Given the description of an element on the screen output the (x, y) to click on. 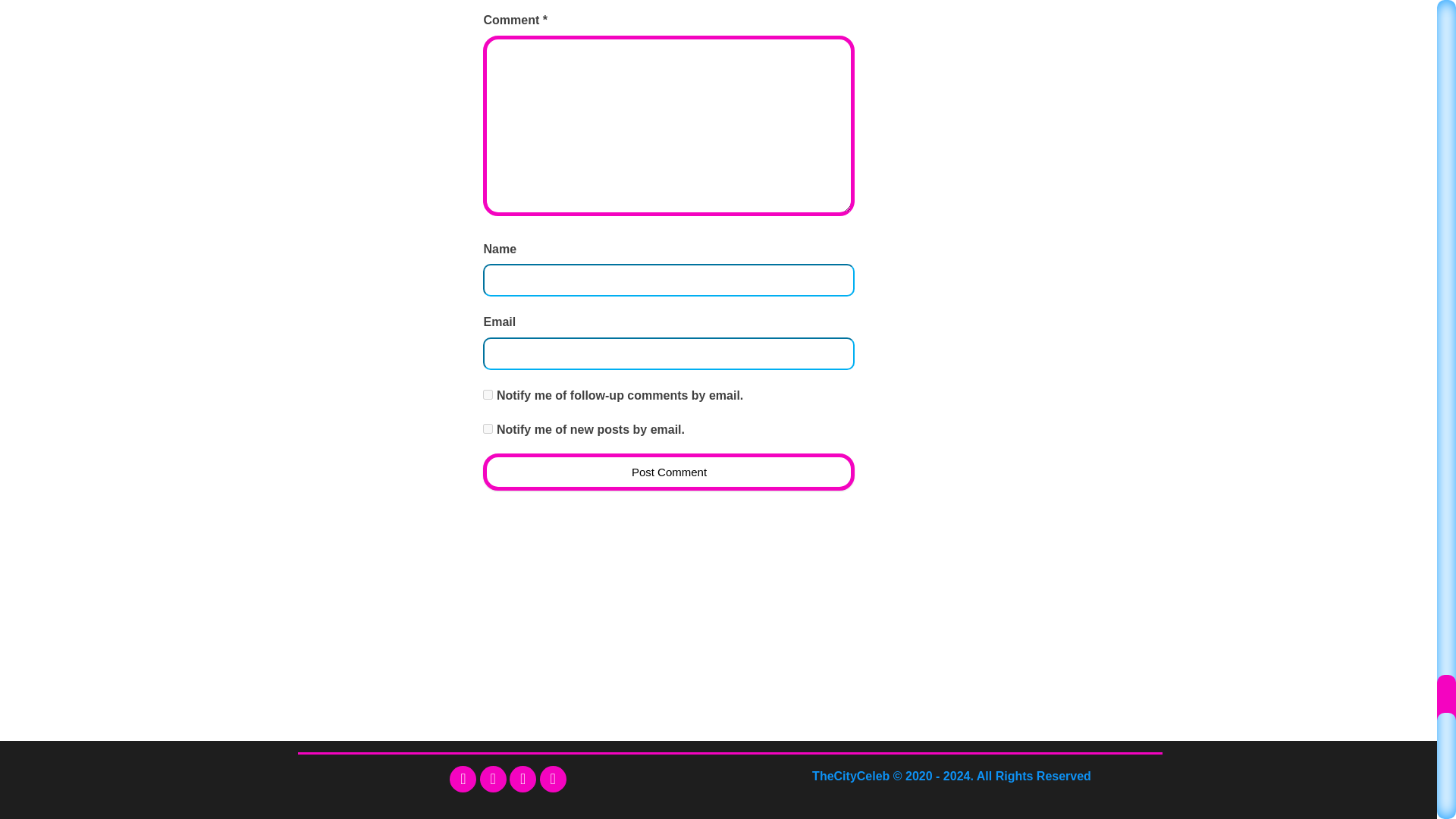
Post Comment (668, 471)
subscribe (488, 429)
subscribe (488, 394)
